Given the description of an element on the screen output the (x, y) to click on. 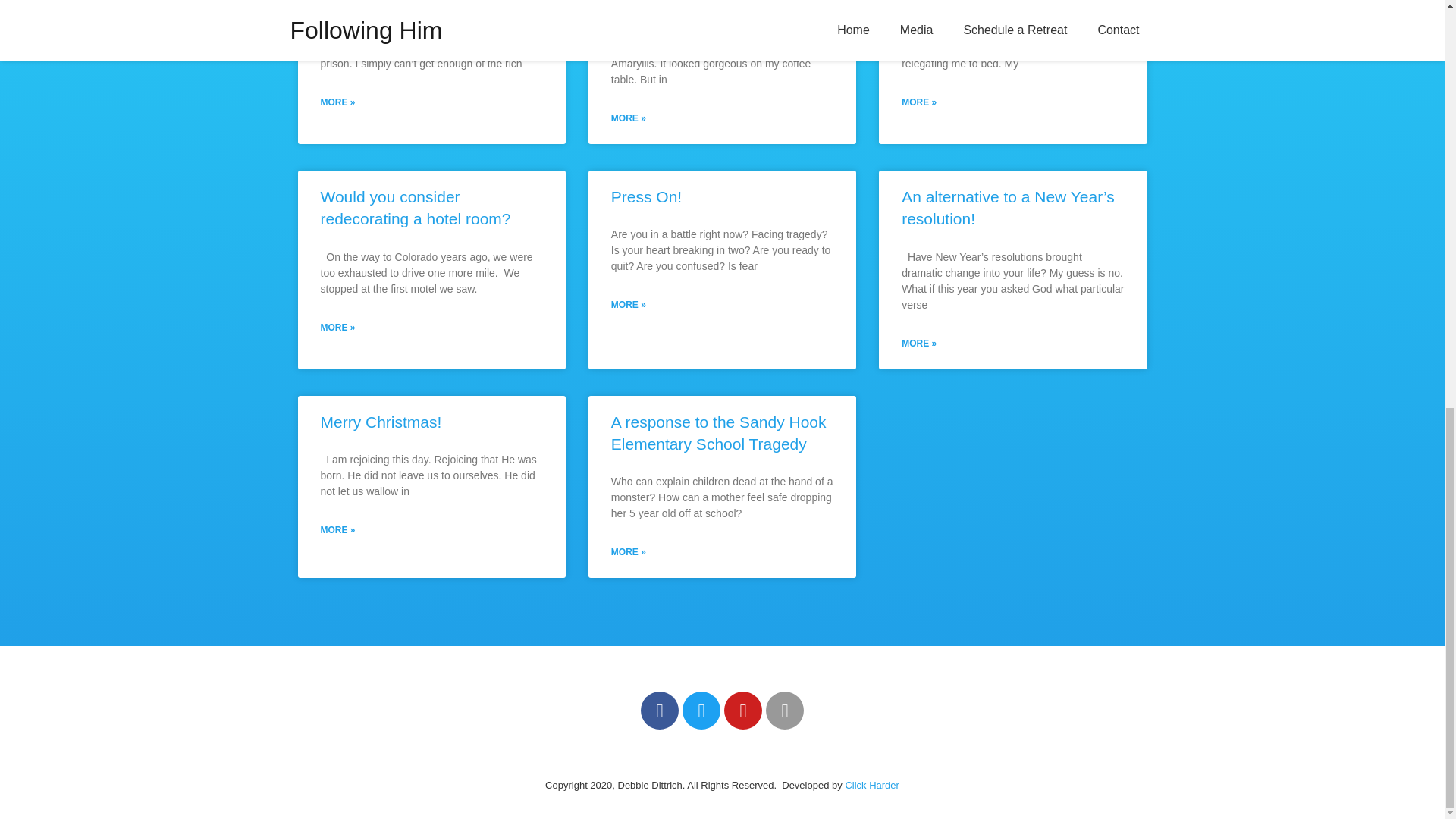
Would you consider redecorating a hotel room? (415, 207)
Merry Christmas! (380, 421)
No Grumbling Today! (976, 1)
God is a Spendthrift! (392, 1)
Press On! (646, 196)
Do you need some Son-shine? (720, 1)
